Given the description of an element on the screen output the (x, y) to click on. 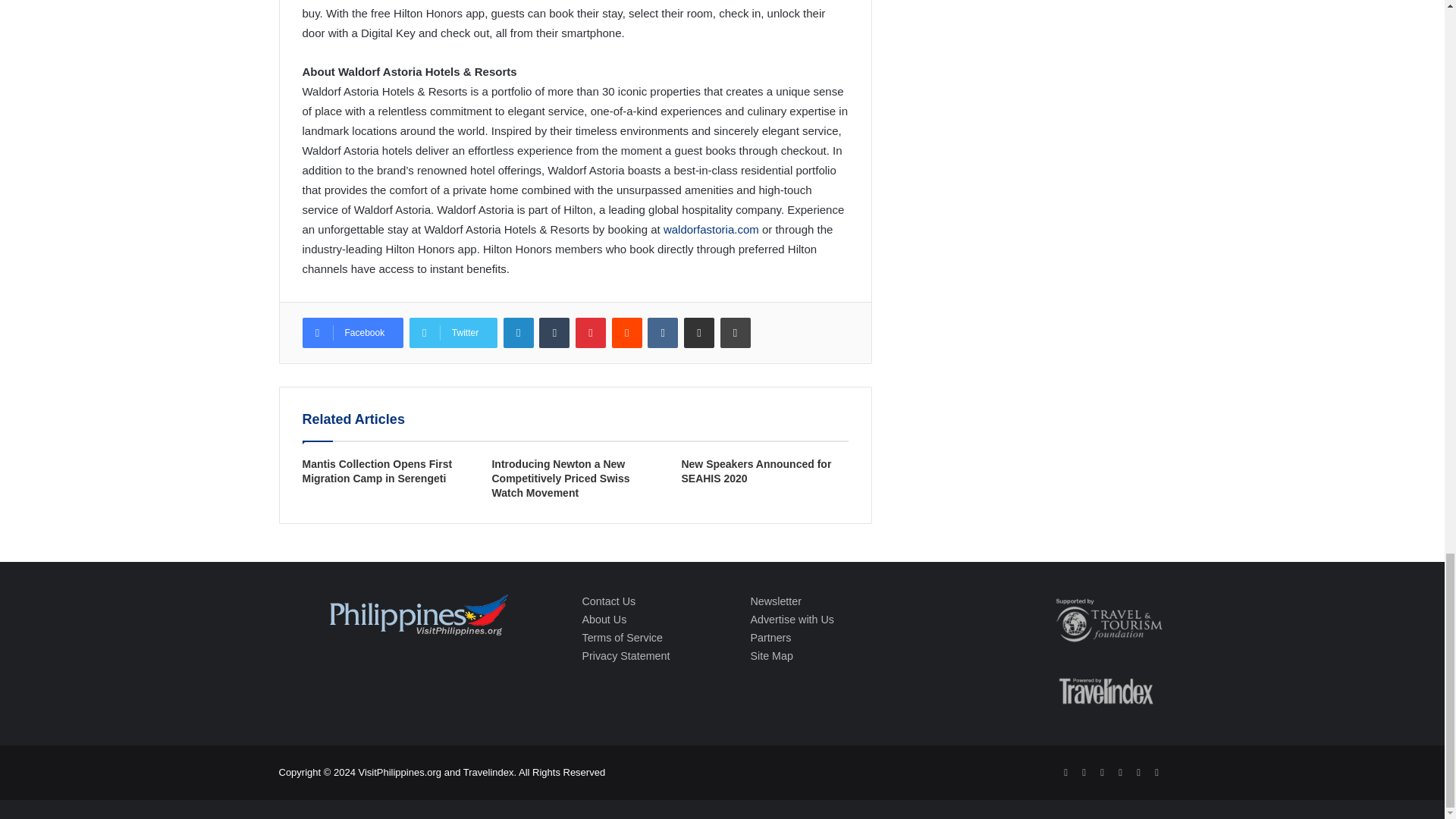
VKontakte (662, 332)
Pinterest (590, 332)
LinkedIn (518, 332)
Share via Email (699, 332)
Print (735, 332)
Facebook (352, 332)
Twitter (453, 332)
Tumblr (553, 332)
Reddit (626, 332)
